Given the description of an element on the screen output the (x, y) to click on. 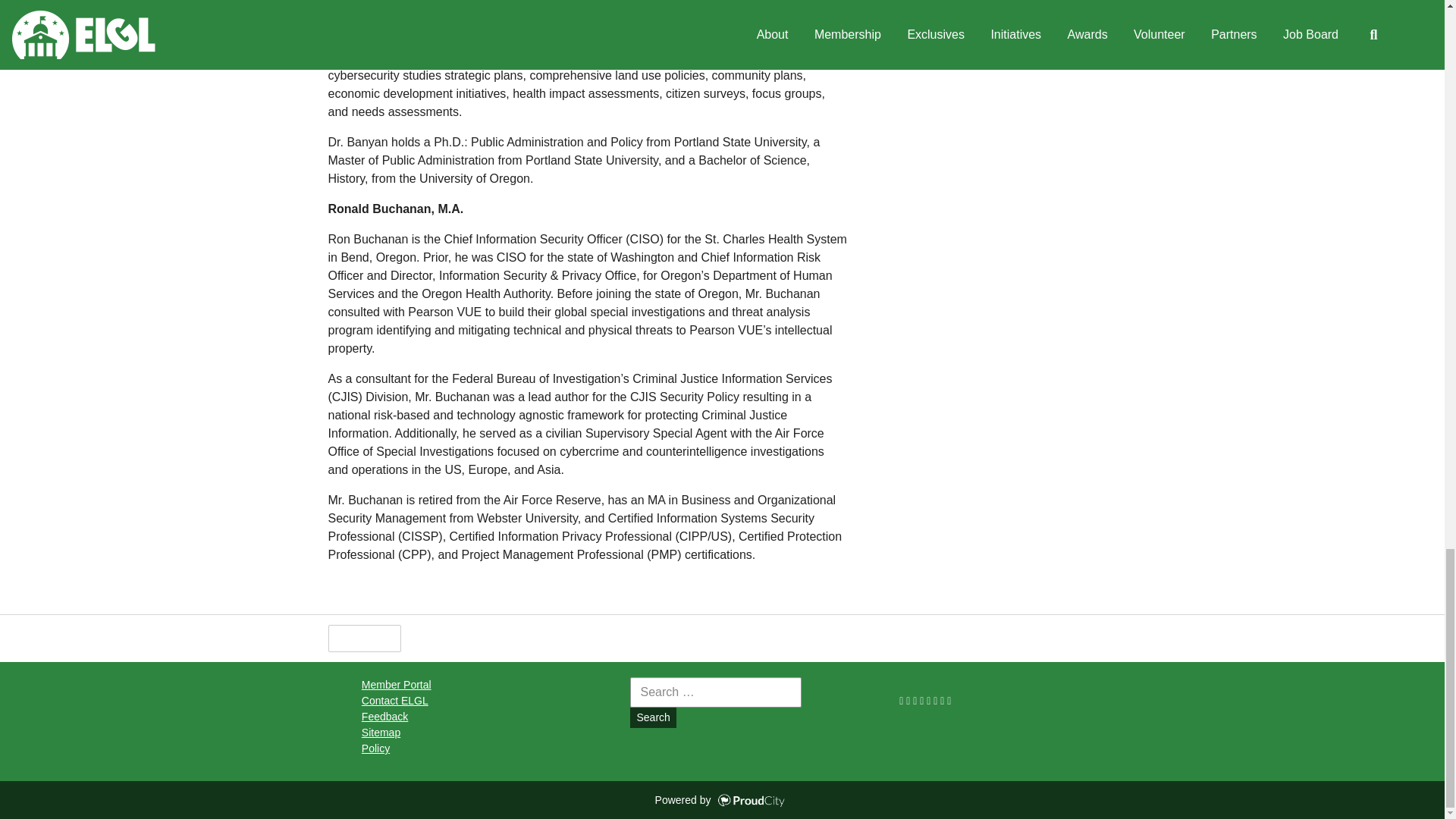
Member Portal (395, 684)
Search (652, 717)
Size (504, 638)
Helpful (364, 637)
Translate (580, 638)
Translate (580, 638)
Search (652, 717)
Share (436, 638)
This page makes me proud (364, 637)
Policy (375, 748)
